Given the description of an element on the screen output the (x, y) to click on. 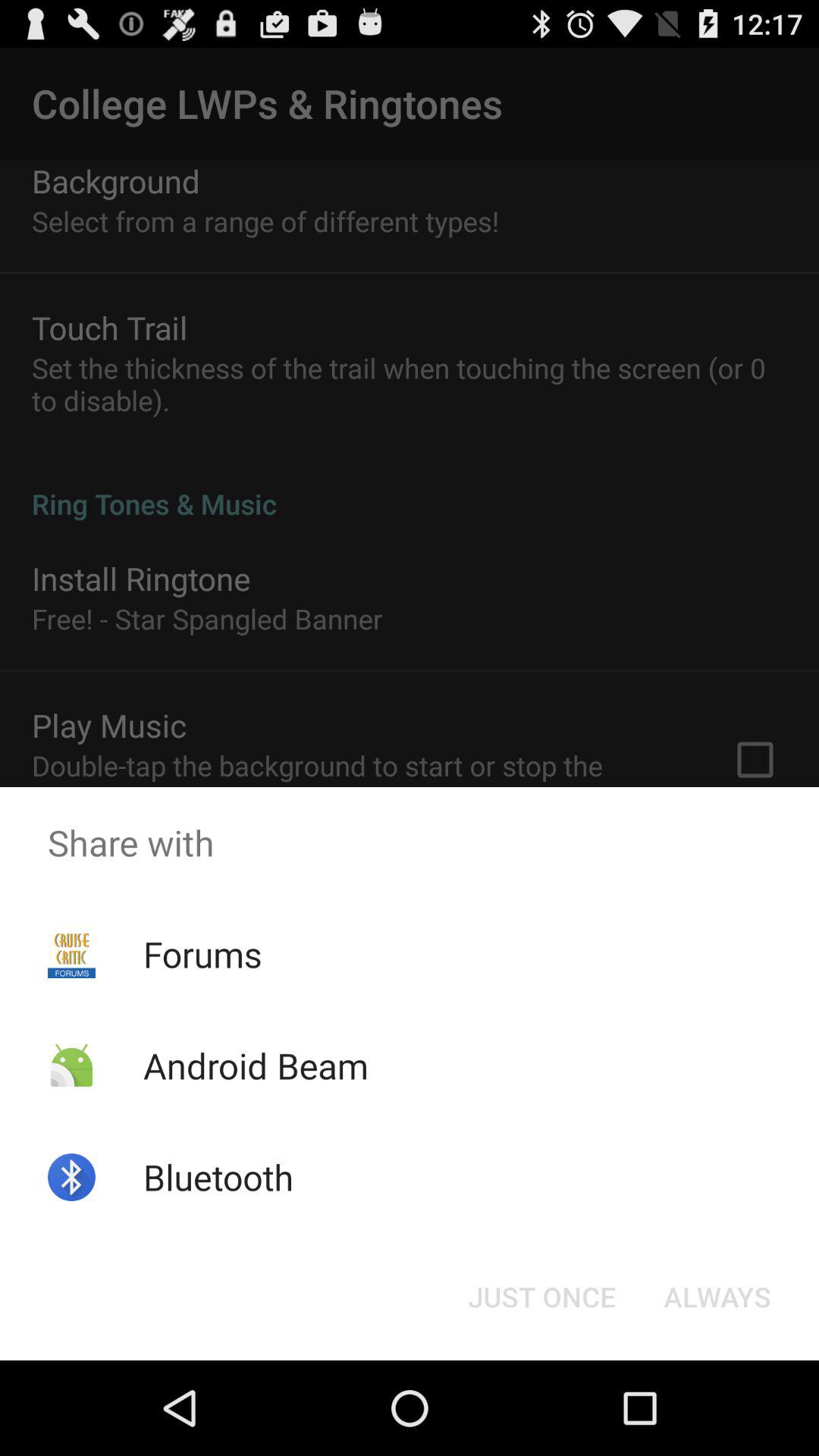
select icon next to the always icon (541, 1296)
